Given the description of an element on the screen output the (x, y) to click on. 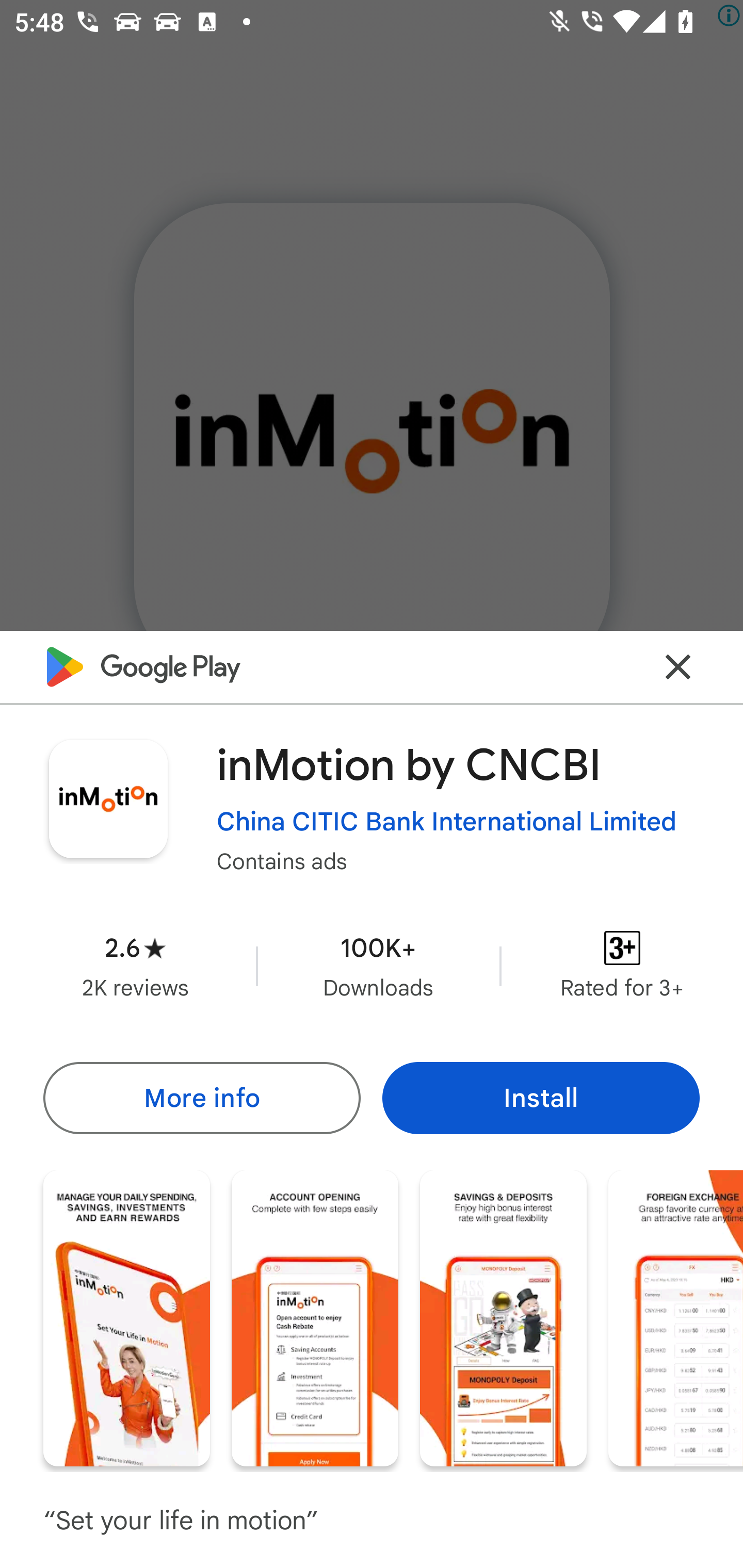
Close (677, 666)
Image of app or game icon for inMotion by CNCBI (108, 798)
China CITIC Bank International Limited (446, 822)
More info (201, 1097)
Install (540, 1097)
Screenshot "1" of "7" (126, 1317)
Screenshot "2" of "7" (314, 1317)
Screenshot "3" of "7" (502, 1317)
Screenshot "4" of "7" (675, 1317)
